Given the description of an element on the screen output the (x, y) to click on. 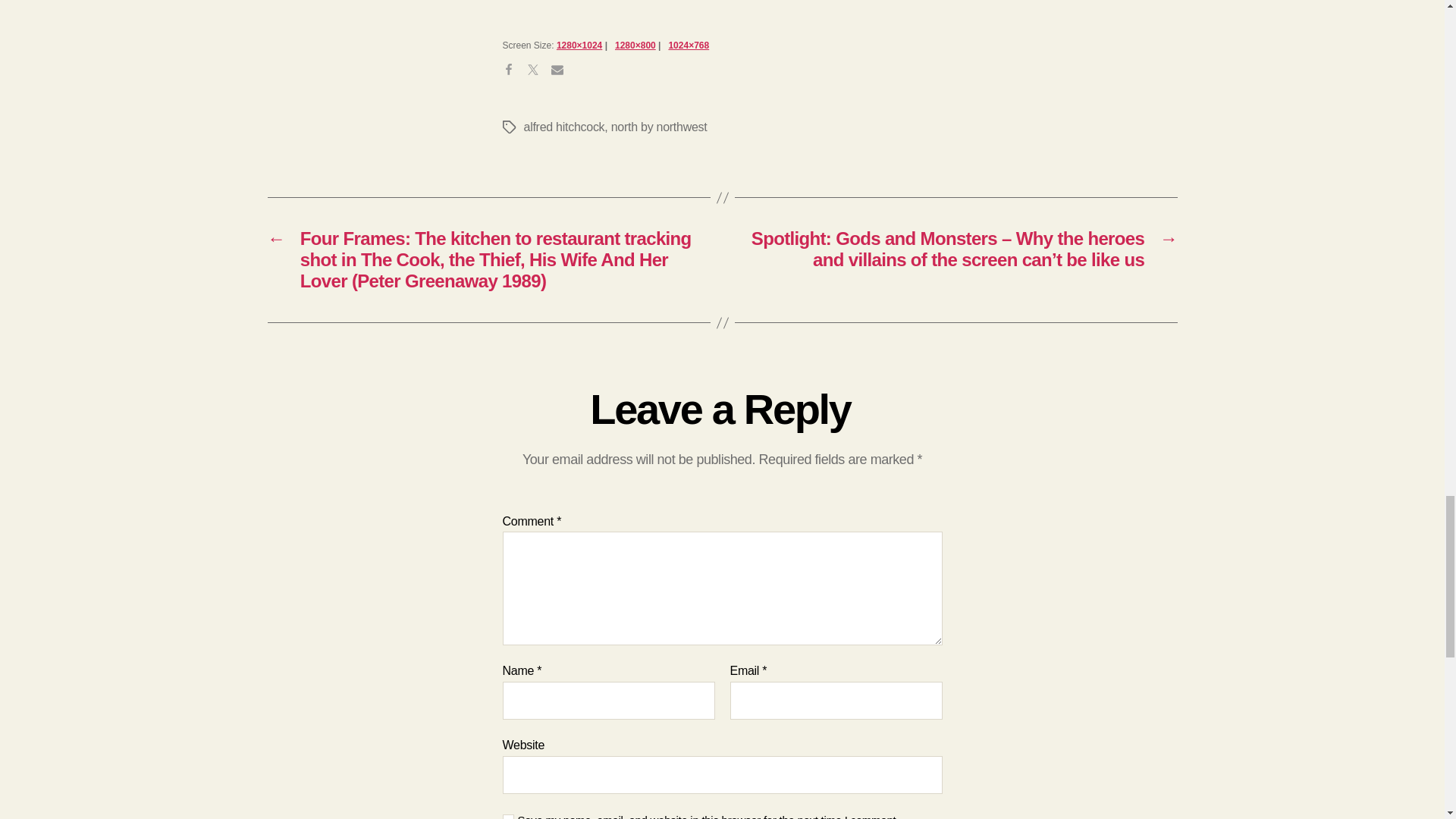
Share on Facebook (513, 75)
Share on Twitter (537, 75)
Share via Email (562, 75)
yes (507, 816)
